Given the description of an element on the screen output the (x, y) to click on. 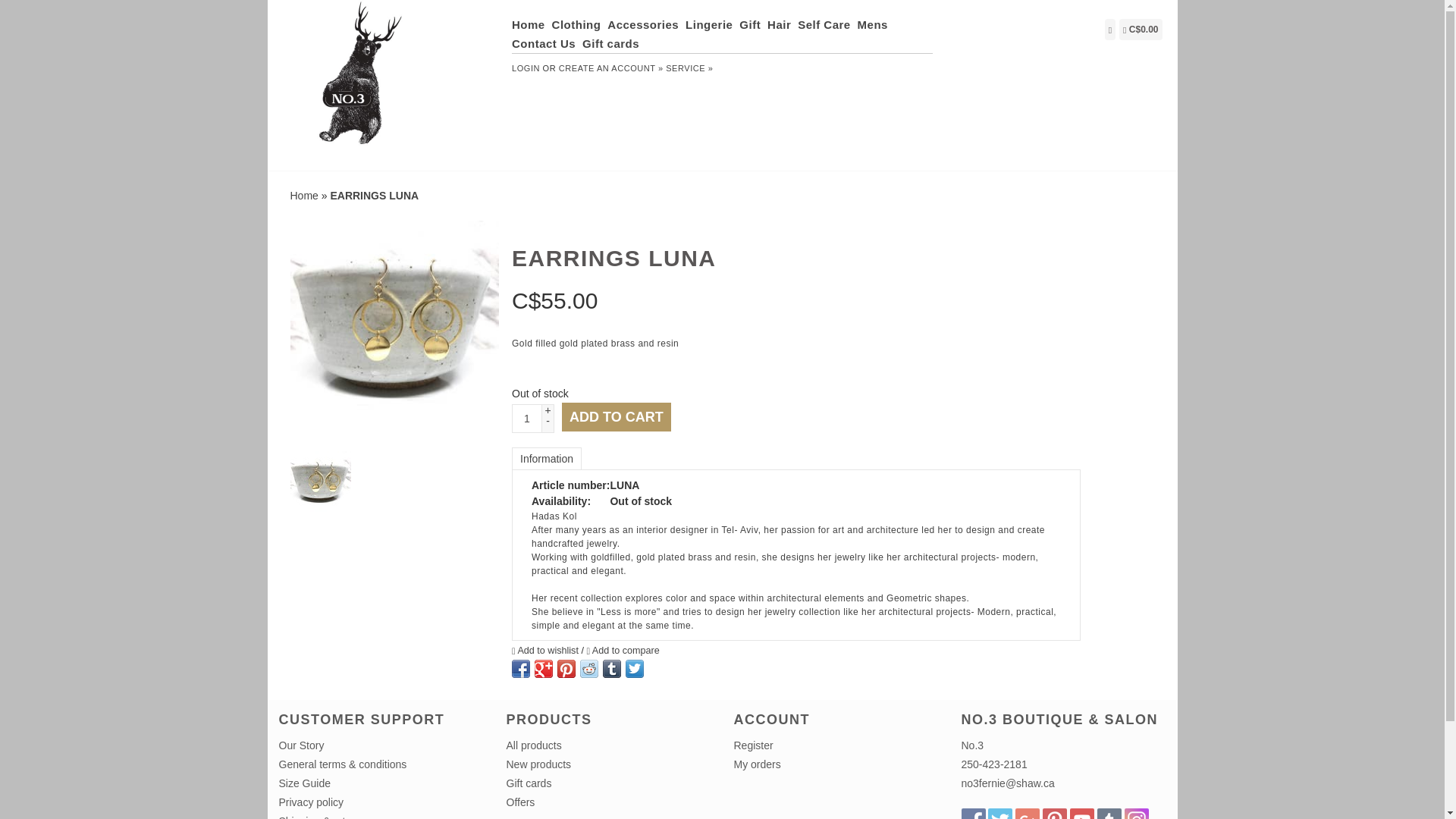
Mens (874, 24)
Lingerie (710, 24)
Gift (751, 24)
Gift (751, 24)
Lingerie (710, 24)
LOGIN (526, 67)
Home (530, 24)
Clothing (578, 24)
1 (526, 418)
Gift cards (612, 43)
